Given the description of an element on the screen output the (x, y) to click on. 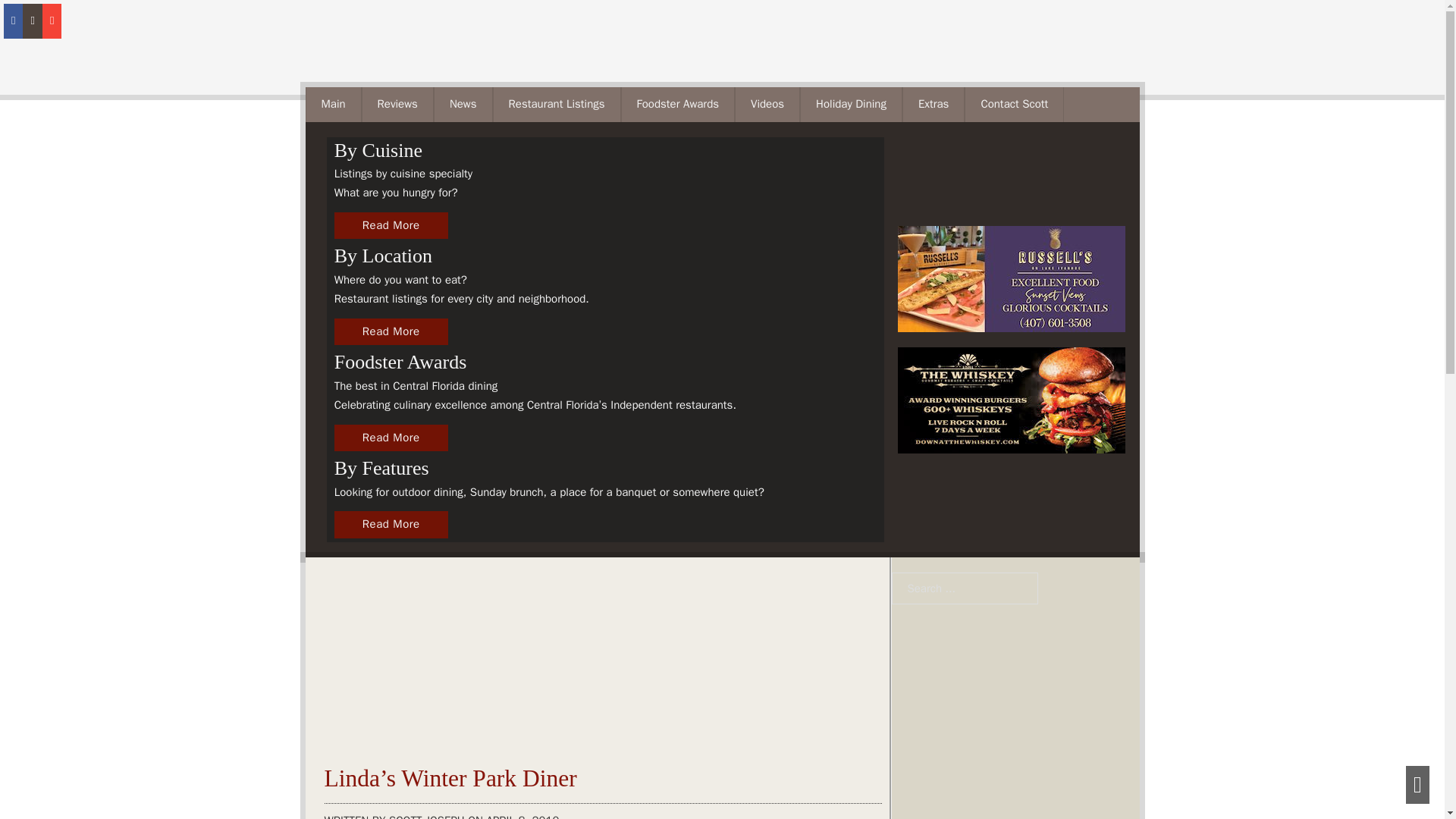
Foodster Awards (391, 438)
Restaurant Listings By Location (391, 225)
Restaurant Listings By Cuisine (391, 331)
Restaurant Listings By Features (391, 524)
